Given the description of an element on the screen output the (x, y) to click on. 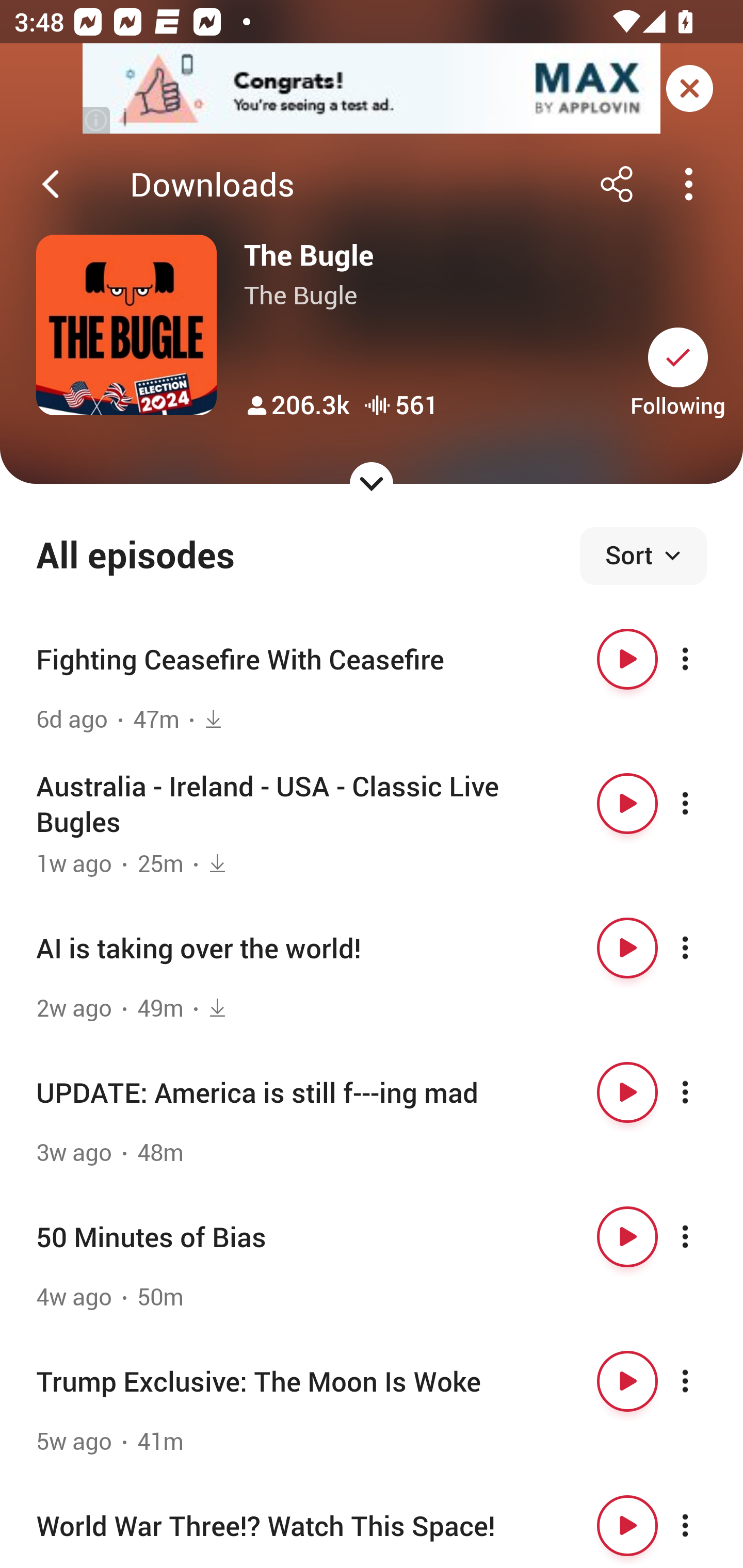
app-monetization (371, 88)
(i) (96, 119)
Back (50, 184)
Unsubscribe button (677, 357)
Sort episodes Sort (643, 555)
Play button (627, 659)
More options (703, 659)
Play button (627, 803)
More options (703, 803)
Play button (627, 947)
More options (703, 947)
Play button (627, 1092)
More options (703, 1092)
Play button (627, 1236)
More options (703, 1236)
Play button (627, 1381)
More options (703, 1381)
Play button (627, 1525)
More options (703, 1525)
